Given the description of an element on the screen output the (x, y) to click on. 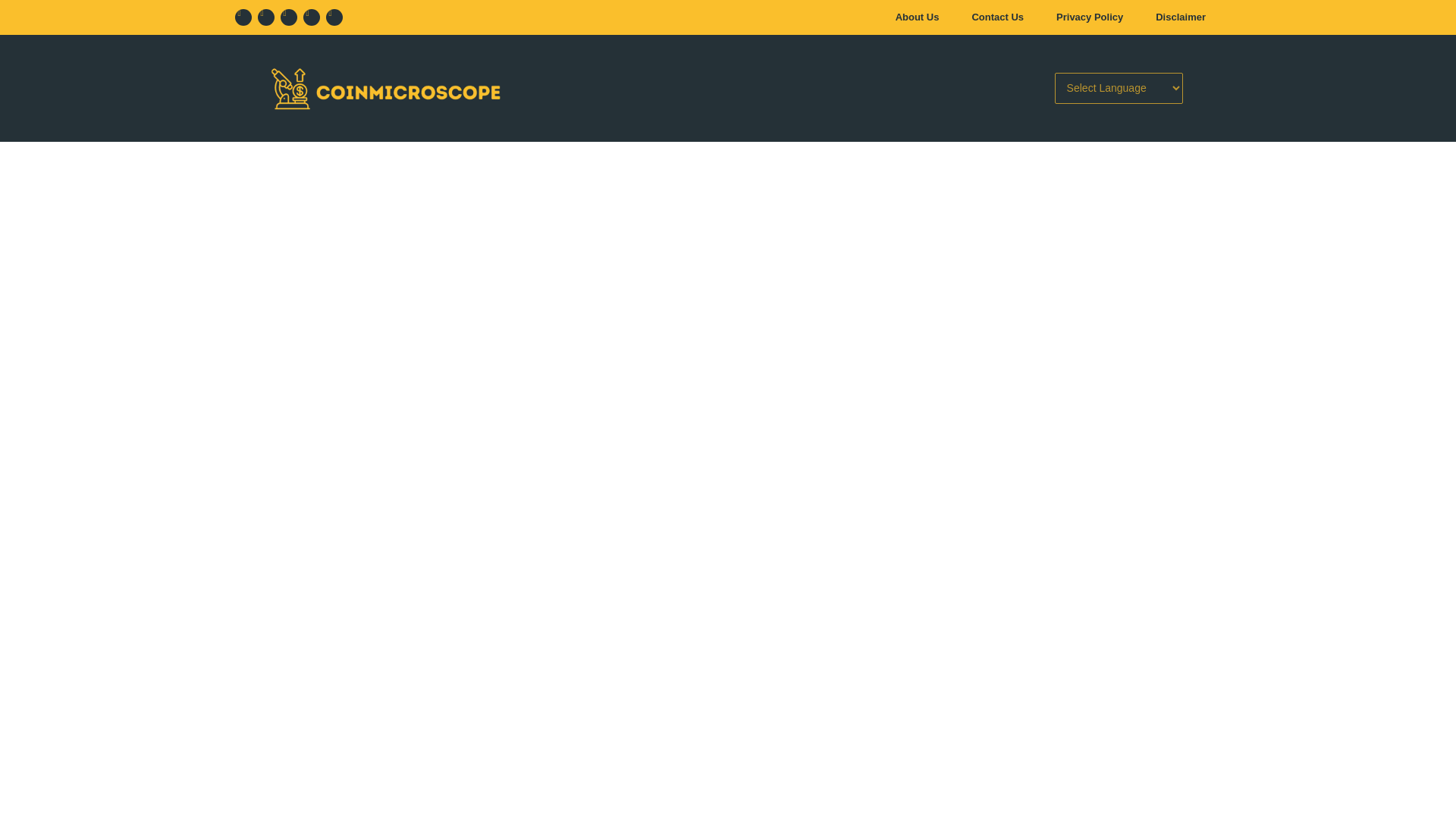
Privacy Policy (1089, 17)
Facebook (242, 17)
Twitter (266, 17)
About Us (917, 17)
Telegram (334, 17)
Instagram (289, 17)
Disclaimer (1180, 17)
Envelope (311, 17)
Contact Us (997, 17)
